Given the description of an element on the screen output the (x, y) to click on. 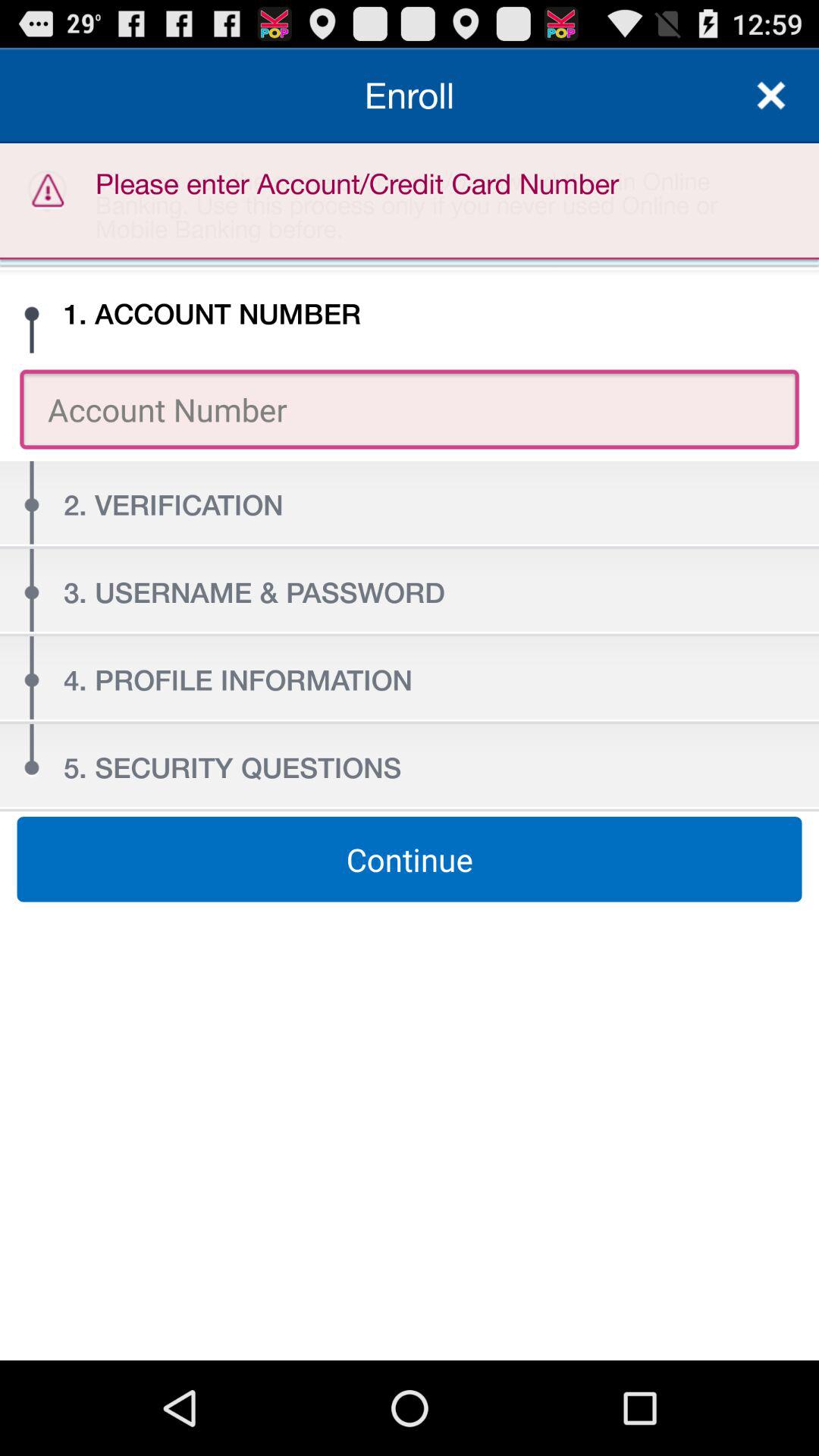
open the item below the 5. security questions icon (409, 859)
